Given the description of an element on the screen output the (x, y) to click on. 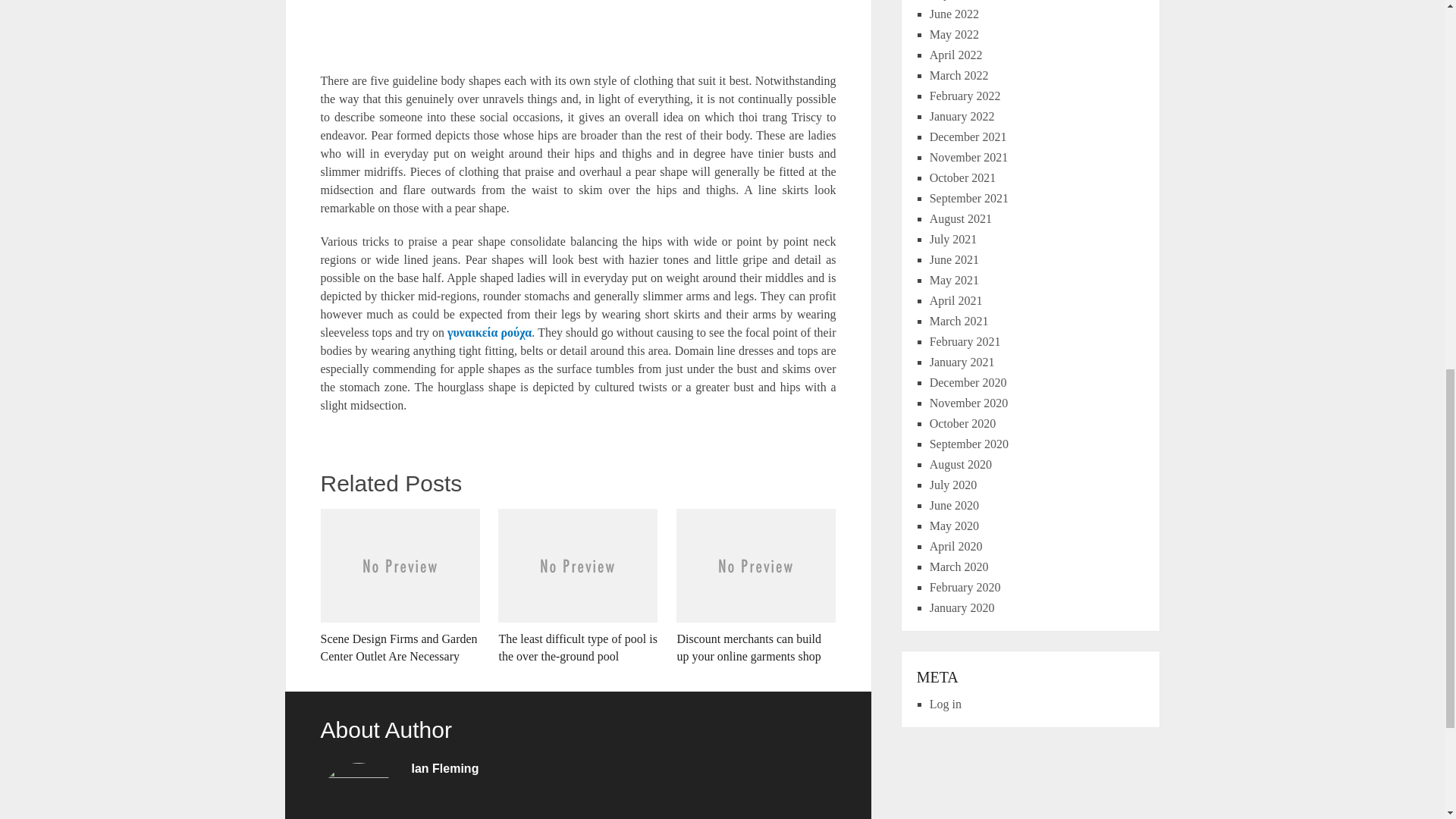
The least difficult type of pool is the over the-ground pool (577, 586)
Discount merchants can build up your online garments shop (756, 586)
Scene Design Firms and Garden Center Outlet Are Necessary (399, 586)
Discount merchants can build up your online garments shop (756, 586)
The least difficult type of pool is the over the-ground pool (577, 586)
Scene Design Firms and Garden Center Outlet Are Necessary (399, 586)
